Given the description of an element on the screen output the (x, y) to click on. 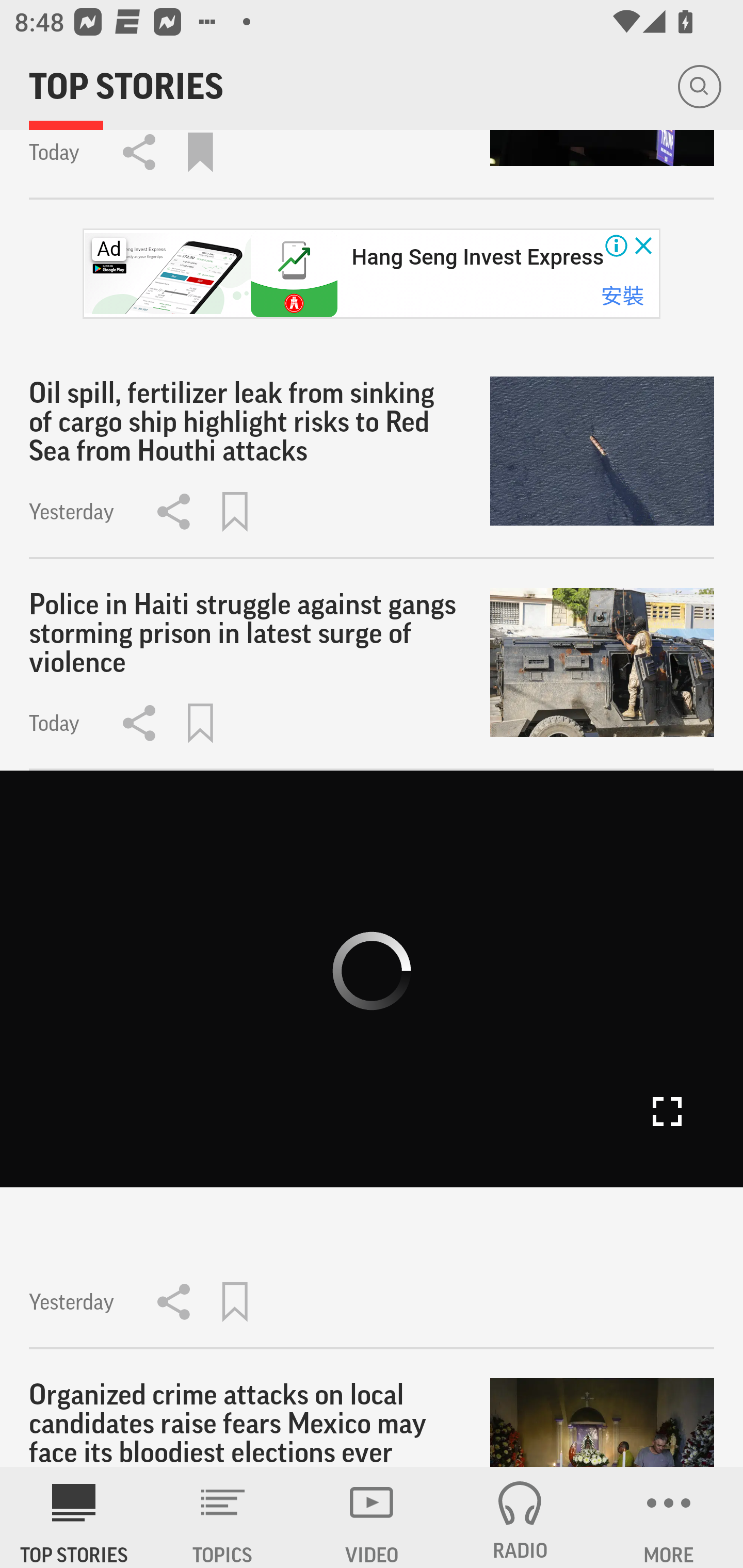
Hang Seng Invest Express (476, 257)
安裝 (621, 295)
toggle controls Fullscreen Yesterday (371, 1059)
Fullscreen (666, 1111)
AP News TOP STORIES (74, 1517)
TOPICS (222, 1517)
VIDEO (371, 1517)
RADIO (519, 1517)
MORE (668, 1517)
